Given the description of an element on the screen output the (x, y) to click on. 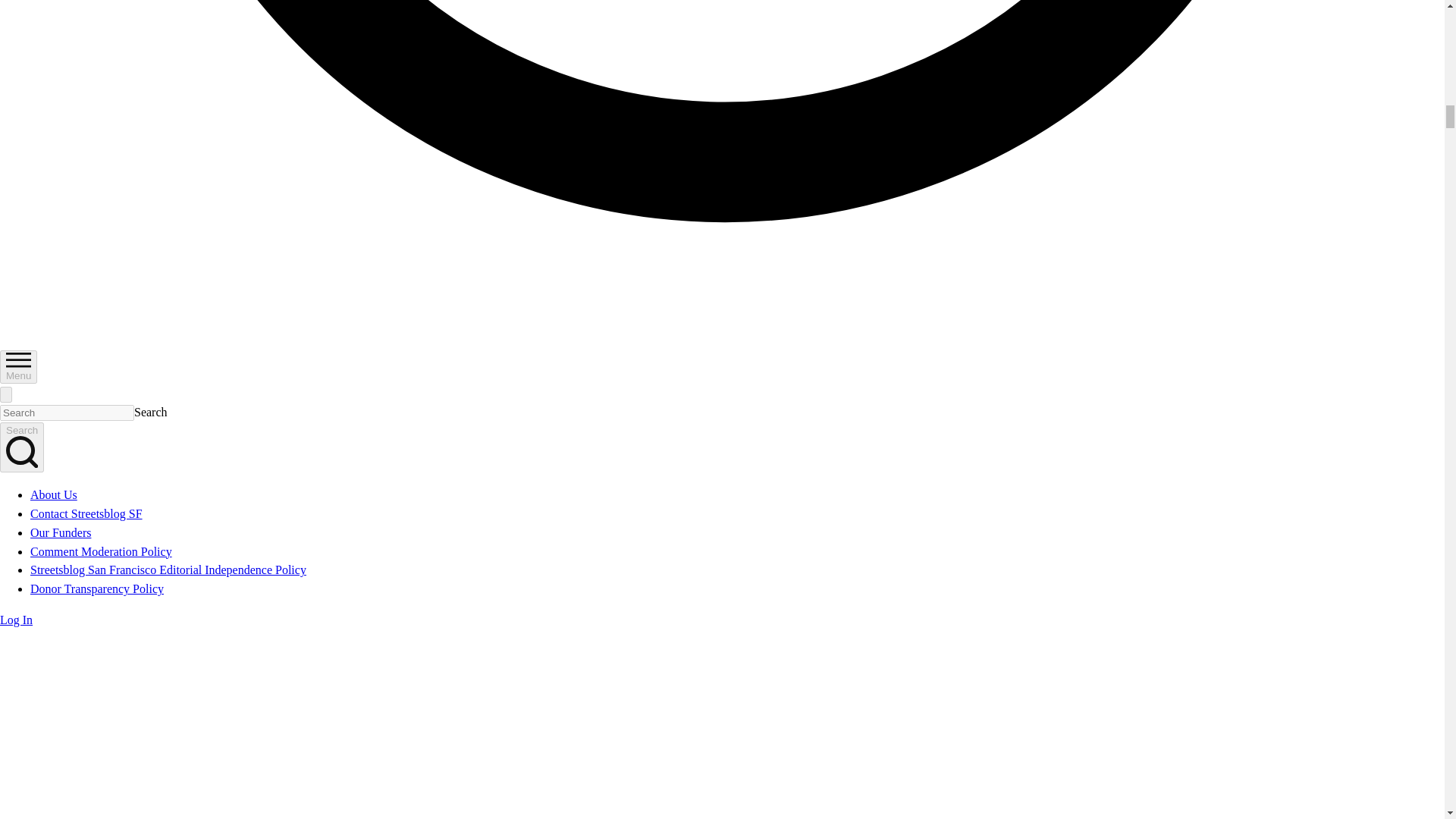
About Us (53, 494)
Comment Moderation Policy (100, 551)
Menu (18, 366)
Contact Streetsblog SF (86, 513)
Streetsblog San Francisco Editorial Independence Policy (167, 569)
Our Funders (60, 532)
Donor Transparency Policy (96, 588)
